Given the description of an element on the screen output the (x, y) to click on. 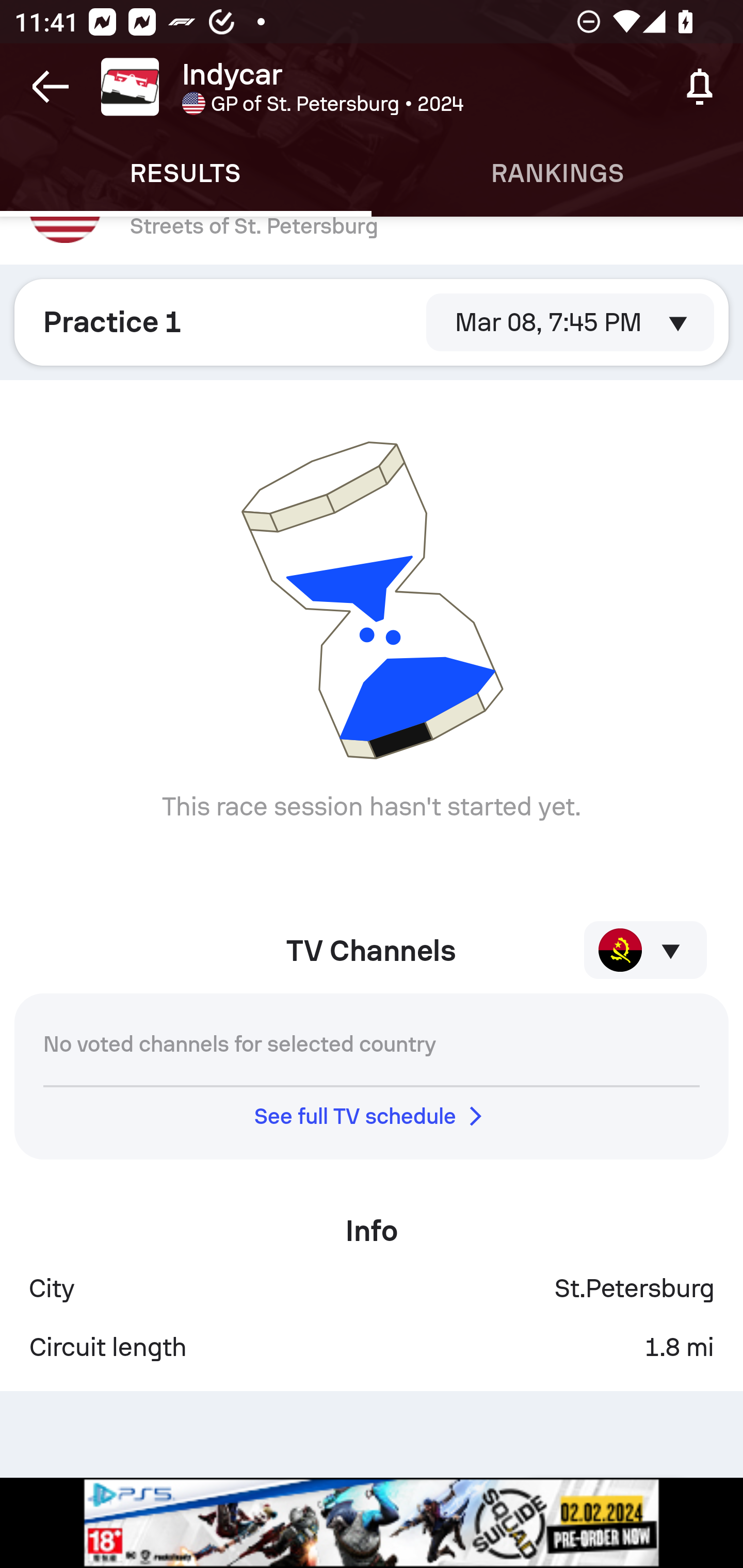
Navigate up (50, 86)
Rankings RANKINGS (557, 173)
Practice 1 Mar 08, 7:45 PM (371, 322)
Mar 08, 7:45 PM (570, 322)
See full TV schedule (371, 1115)
kgdfiivk_320x50 (371, 1522)
